Given the description of an element on the screen output the (x, y) to click on. 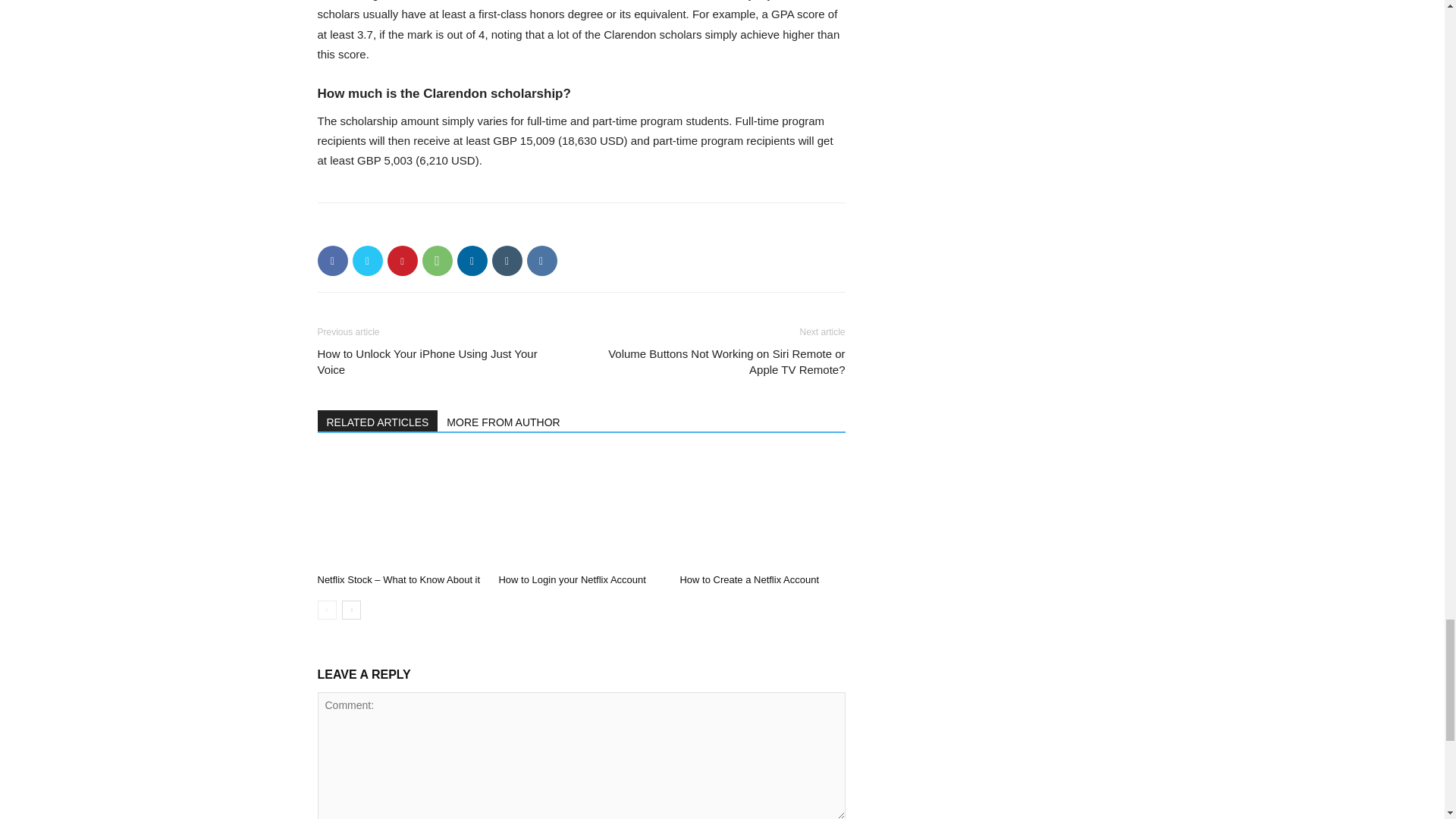
VK (540, 260)
Twitter (366, 260)
Tumblr (506, 260)
Facebook (332, 260)
How to Login your Netflix Account (580, 510)
Linkedin (471, 260)
Pinterest (401, 260)
bottomFacebookLike (430, 227)
WhatsApp (436, 260)
